Given the description of an element on the screen output the (x, y) to click on. 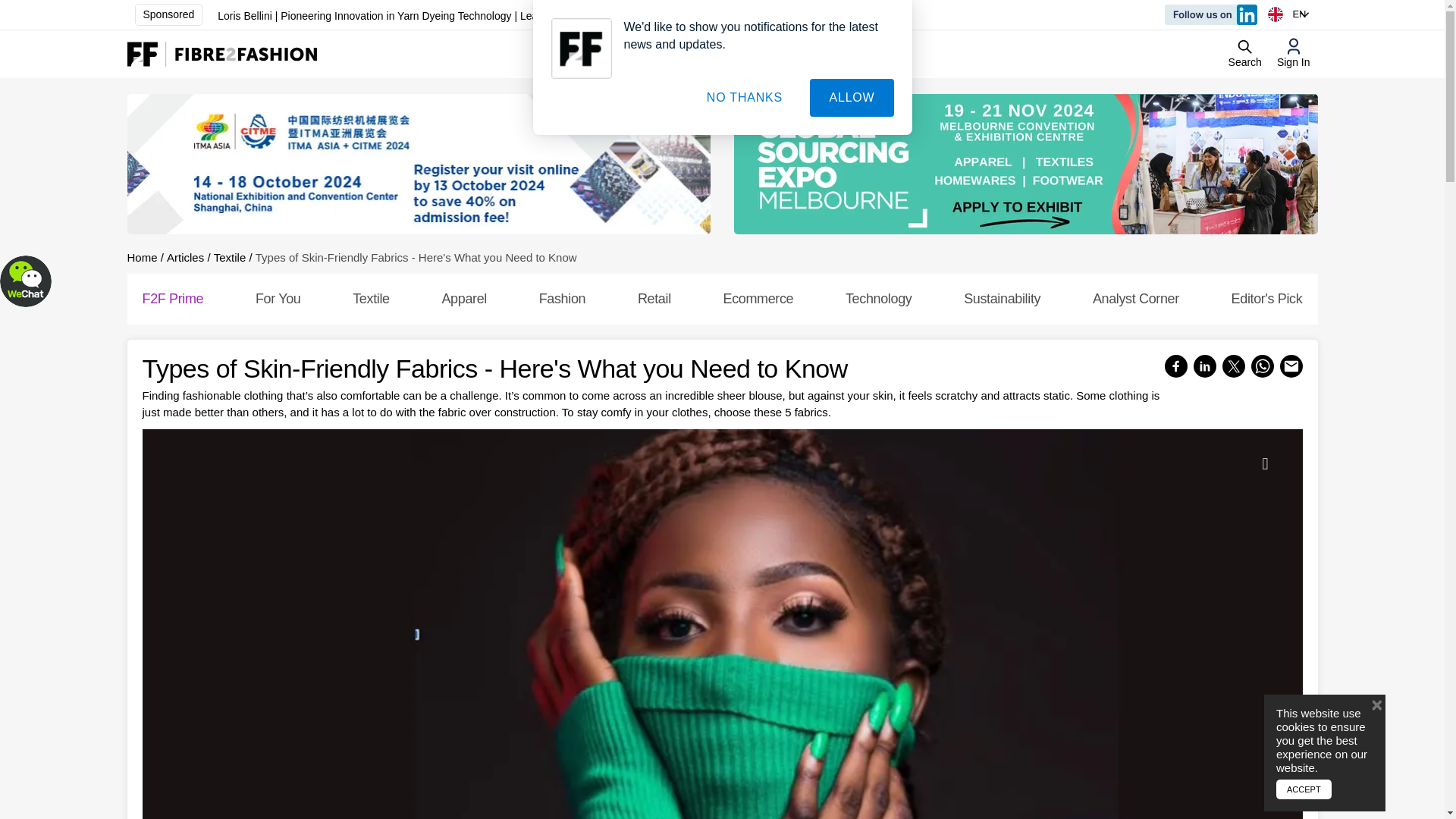
ITMA-ASIA (419, 163)
Global Sourcing Expo (1025, 163)
Services (805, 53)
Home (142, 256)
News (748, 53)
Business (585, 53)
Articles (185, 256)
ACCEPT (1304, 789)
EN (1291, 14)
Market Intelligence (671, 53)
Textile (230, 256)
Linkdin (1210, 14)
